Given the description of an element on the screen output the (x, y) to click on. 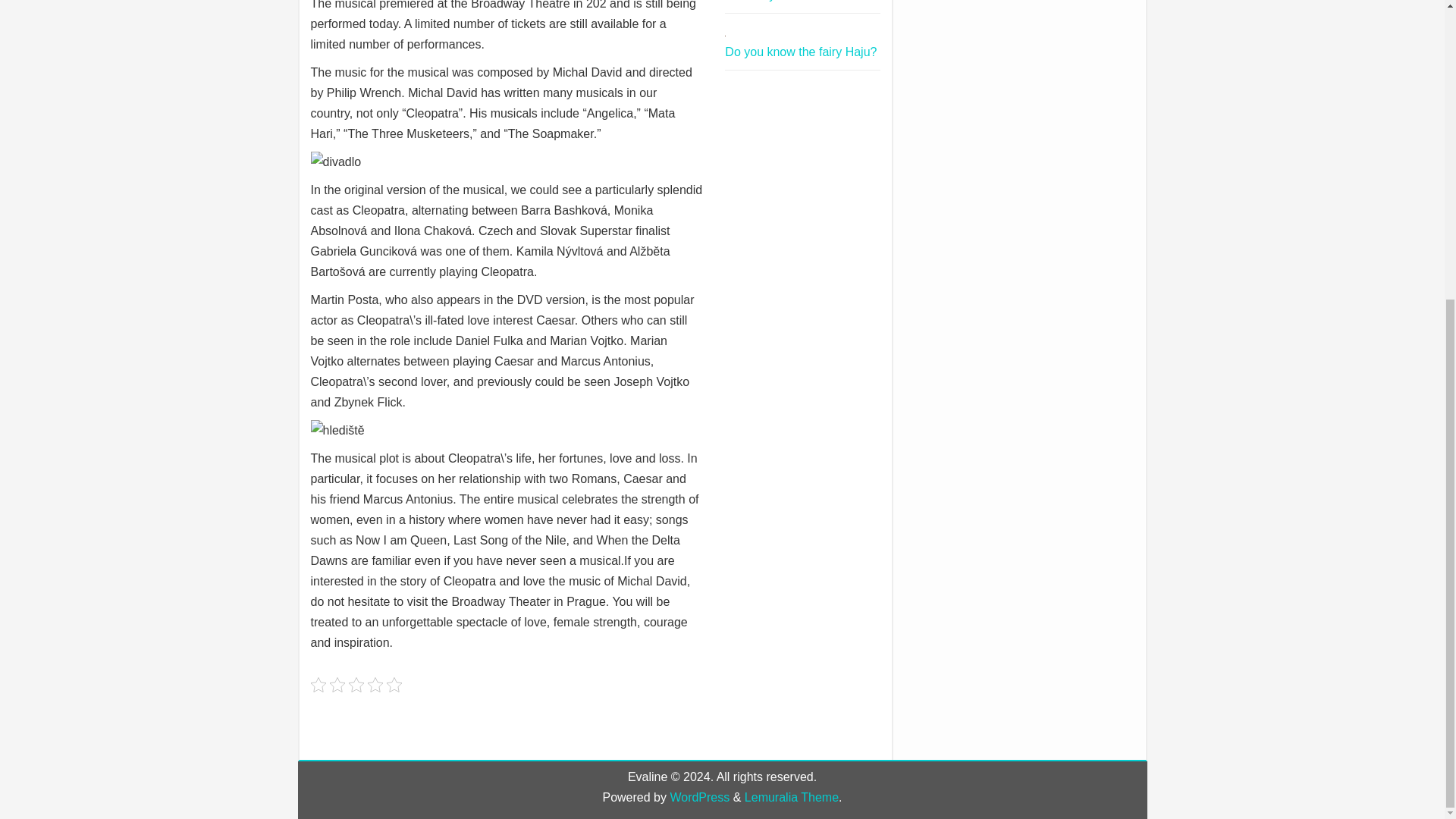
Comedies You Should Definitely Watch (784, 0)
Comedies You Should Definitely Watch (784, 0)
Do you know the fairy Haju? (800, 51)
WordPress (699, 797)
Lemuralia Theme (791, 797)
Do you know the fairy Haju? (800, 51)
